Given the description of an element on the screen output the (x, y) to click on. 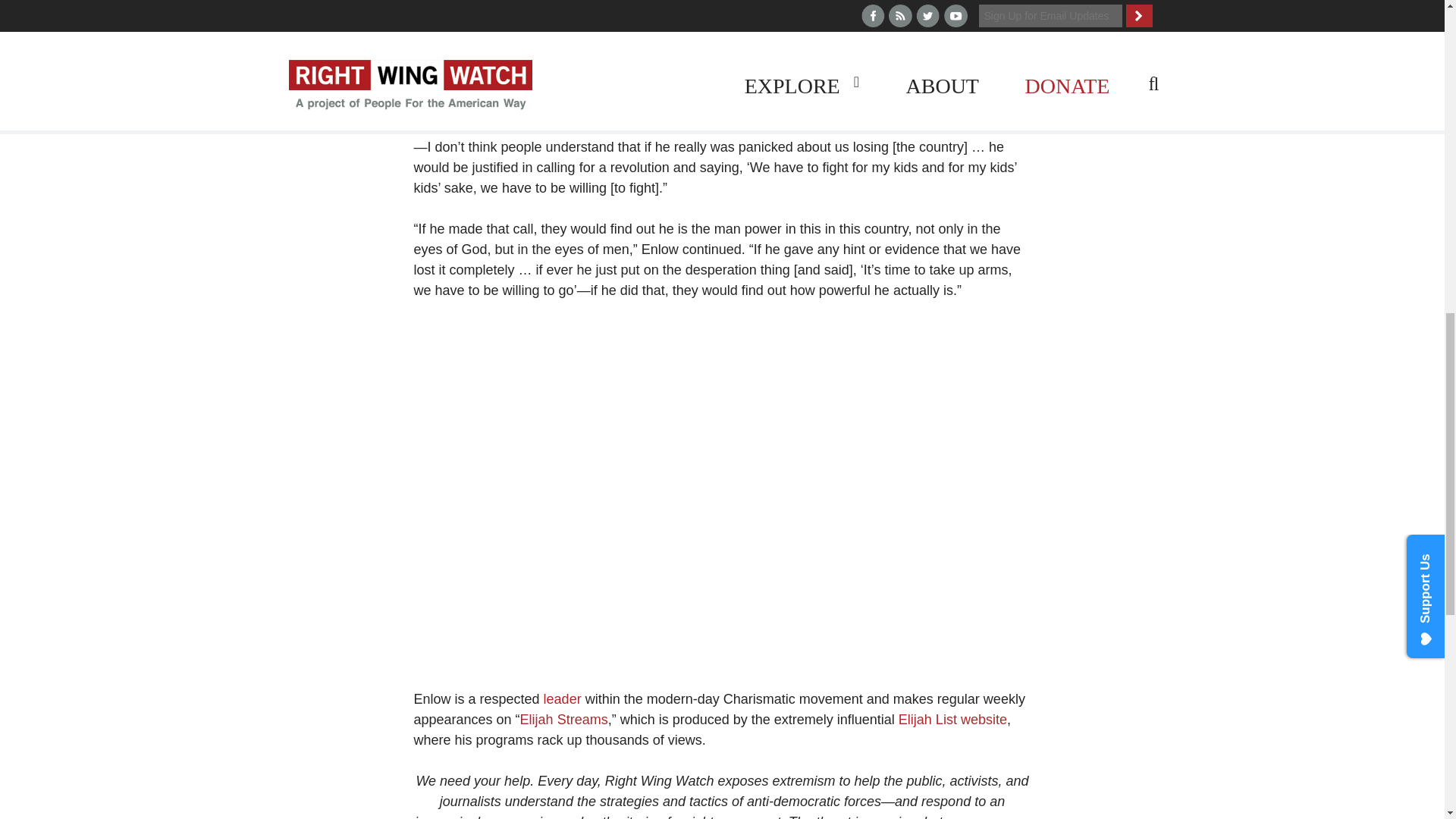
program (642, 44)
Elijah Streams (563, 719)
Elijah List website (952, 719)
leader (561, 698)
